Given the description of an element on the screen output the (x, y) to click on. 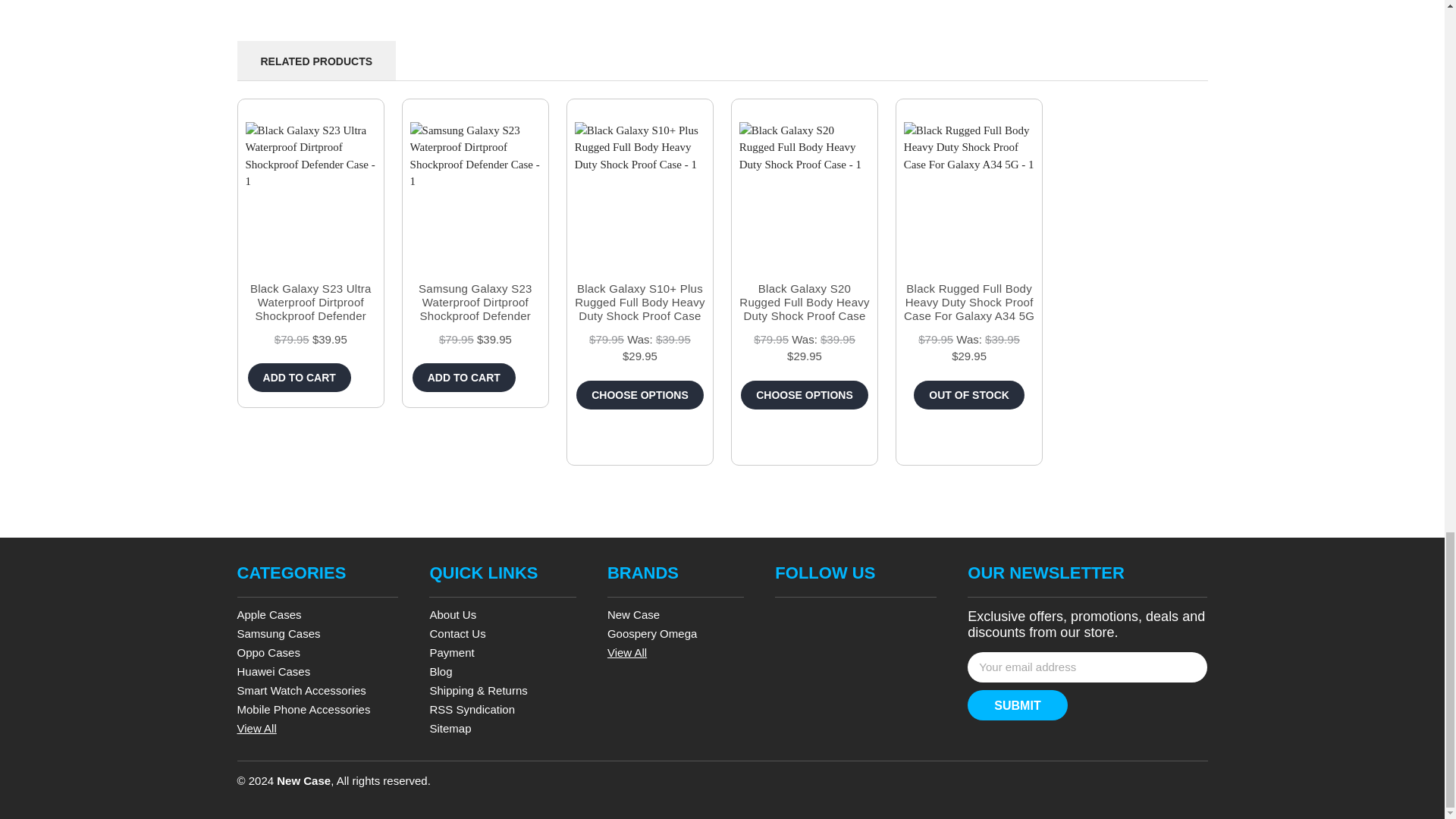
submit (1017, 705)
